Given the description of an element on the screen output the (x, y) to click on. 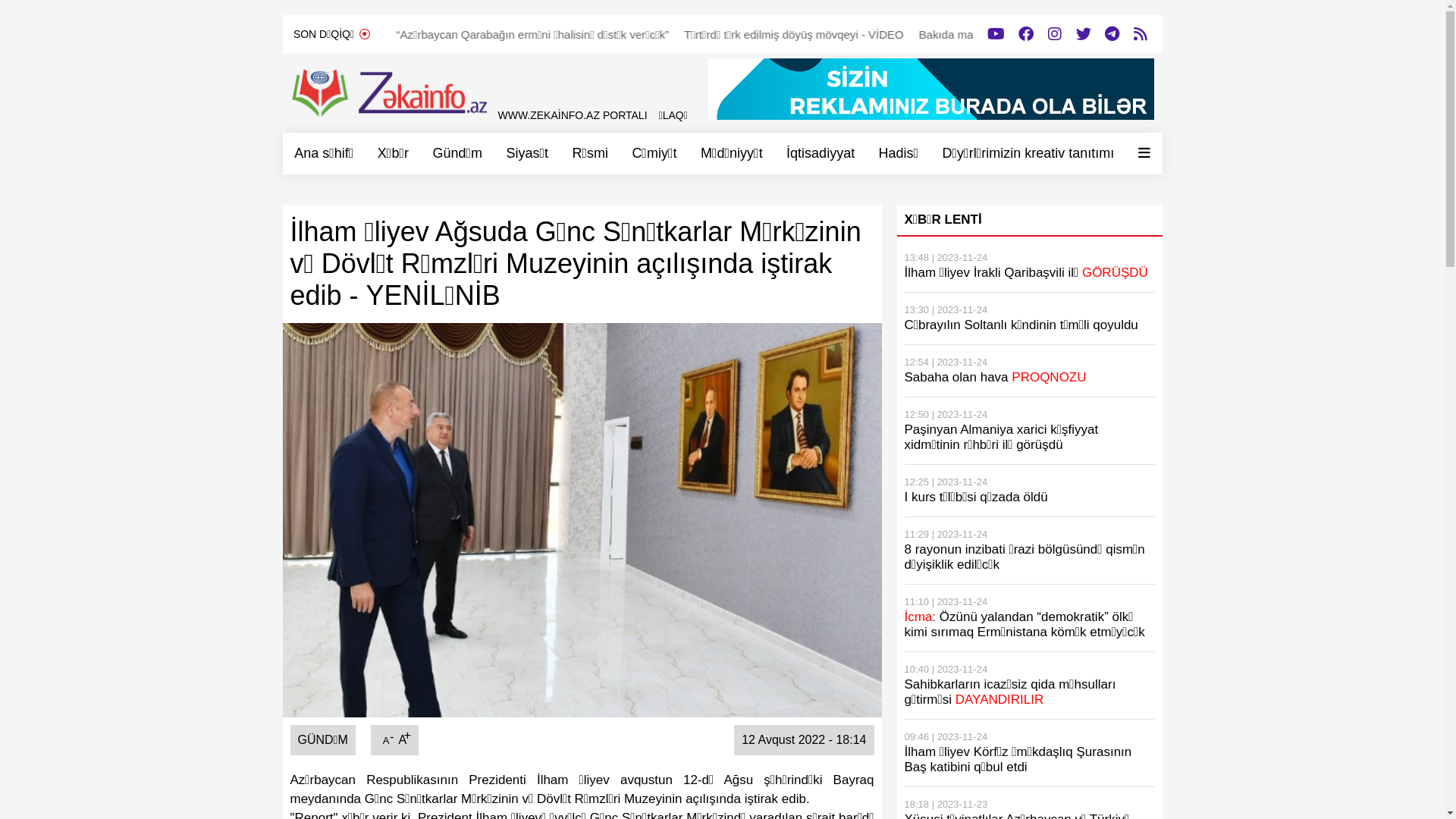
A
- Element type: text (386, 740)
WWW.ZEKAINFO.AZ PORTALI Element type: text (571, 115)
12:54 | 2023-11-24
Sabaha olan hava PROQNOZU Element type: text (1028, 371)
A
+ Element type: text (402, 739)
